Given the description of an element on the screen output the (x, y) to click on. 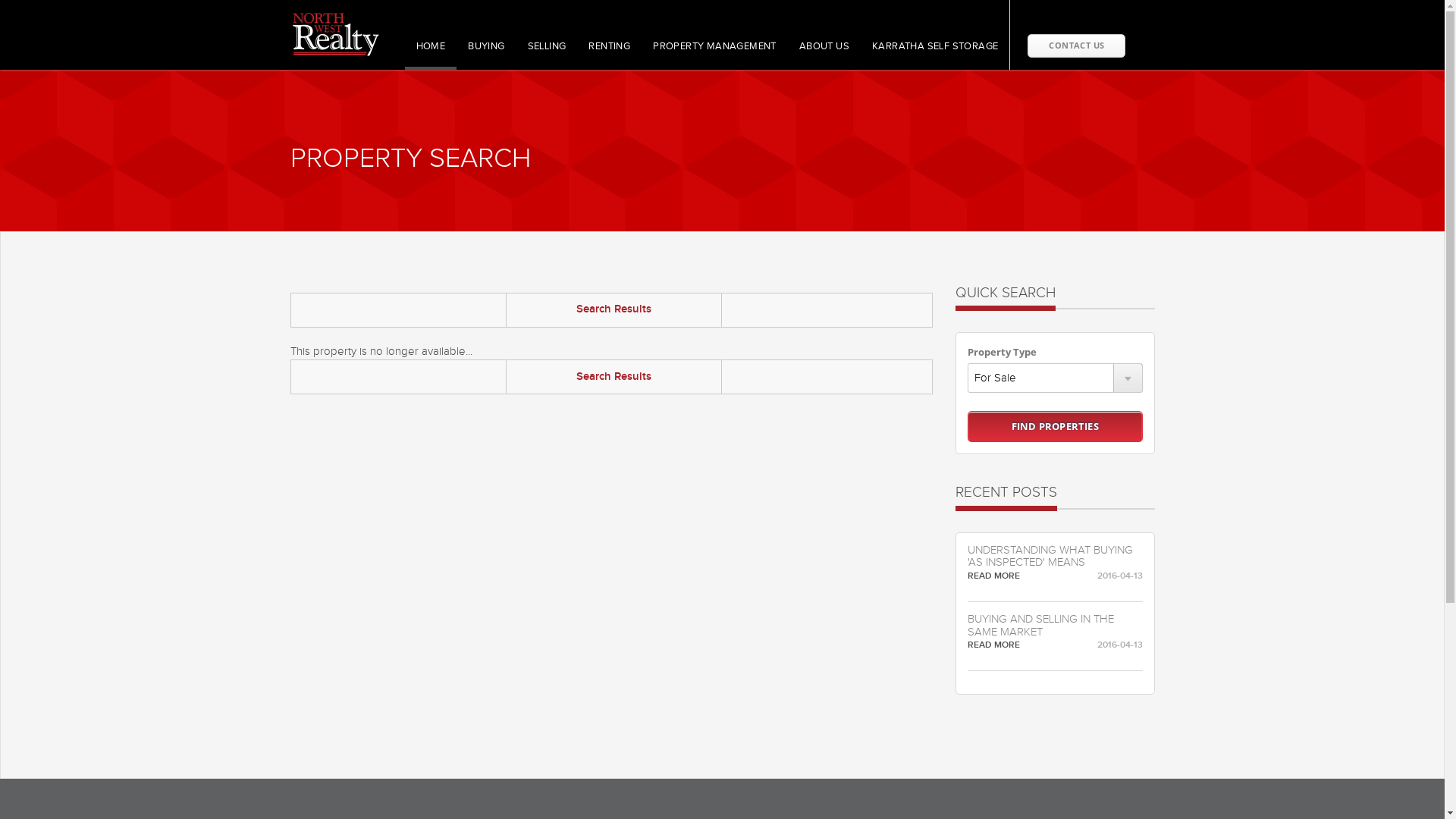
KARRATHA SELF STORAGE Element type: text (934, 54)
READ MORE Element type: text (993, 575)
Search Results Element type: text (613, 309)
BUYING AND SELLING IN THE SAME MARKET Element type: text (1054, 625)
FIND PROPERTIES Element type: text (1054, 426)
ABOUT US Element type: text (823, 54)
PROPERTY MANAGEMENT Element type: text (714, 54)
CONTACT US Element type: text (1076, 45)
HOME Element type: text (430, 54)
READ MORE Element type: text (993, 644)
BUYING Element type: text (485, 54)
SELLING Element type: text (546, 54)
UNDERSTANDING WHAT BUYING 'AS INSPECTED' MEANS Element type: text (1054, 556)
Search Results Element type: text (613, 376)
RENTING Element type: text (609, 54)
